Given the description of an element on the screen output the (x, y) to click on. 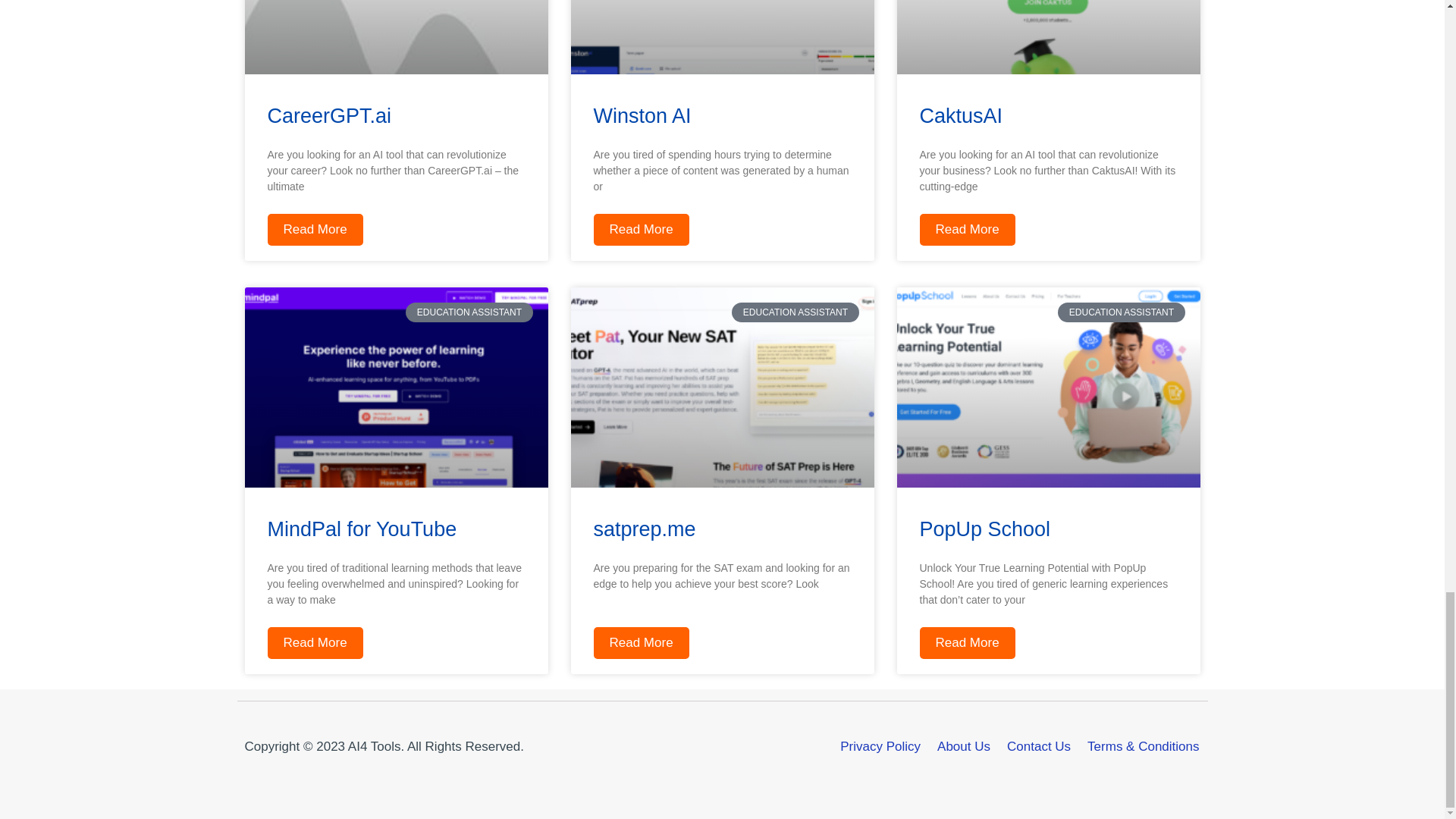
About Us (963, 746)
Winston AI (641, 115)
Read More (640, 229)
CareerGPT.ai (328, 115)
Contact Us (1038, 746)
Read More (314, 643)
PopUp School (983, 528)
satprep.me (643, 528)
Read More (640, 643)
Read More (966, 229)
CaktusAI (960, 115)
Read More (966, 643)
Privacy Policy (880, 746)
MindPal for YouTube (361, 528)
Read More (314, 229)
